Given the description of an element on the screen output the (x, y) to click on. 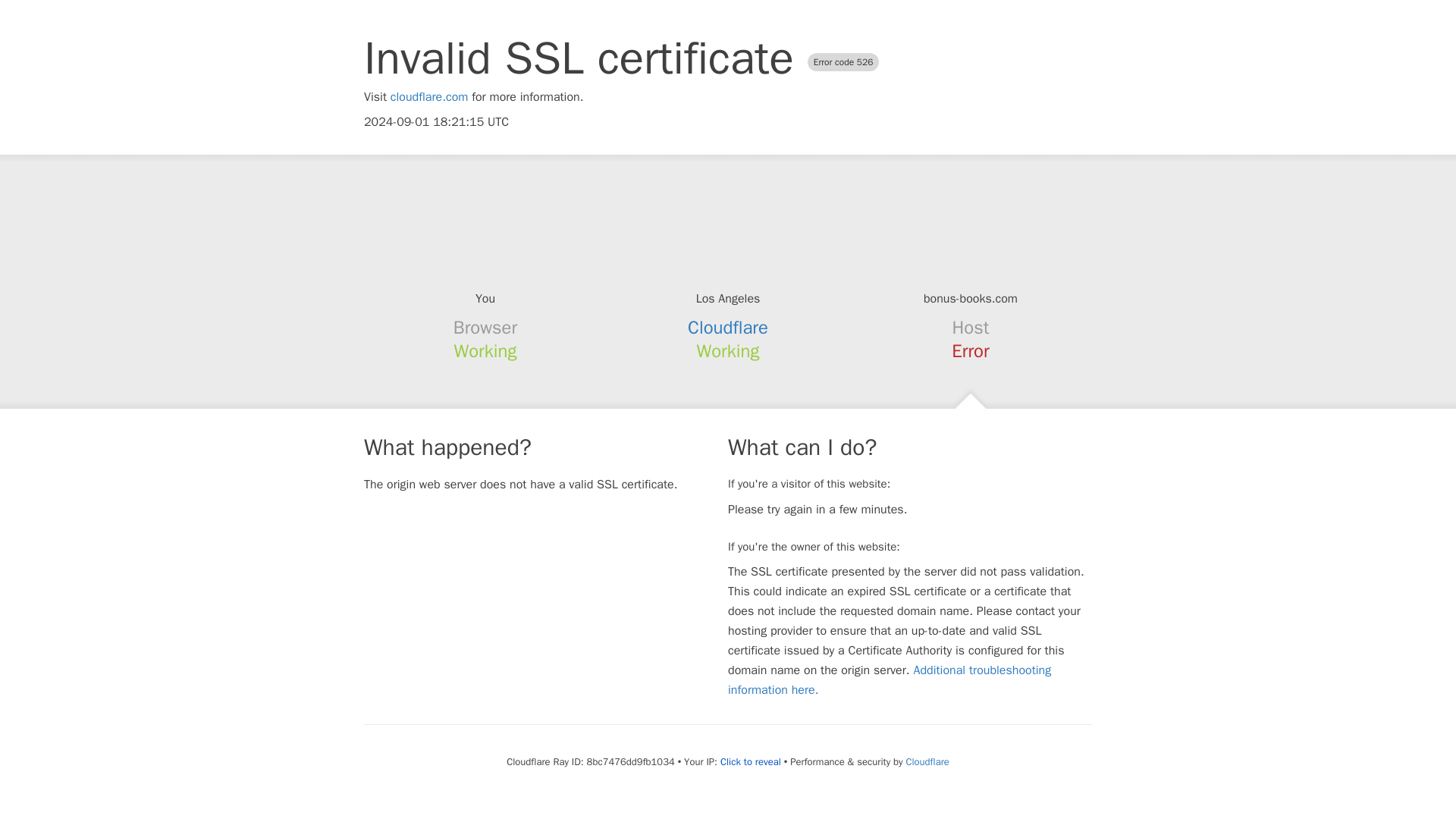
Additional troubleshooting information here. (889, 679)
Click to reveal (750, 762)
Cloudflare (927, 761)
cloudflare.com (429, 96)
Cloudflare (727, 327)
